Given the description of an element on the screen output the (x, y) to click on. 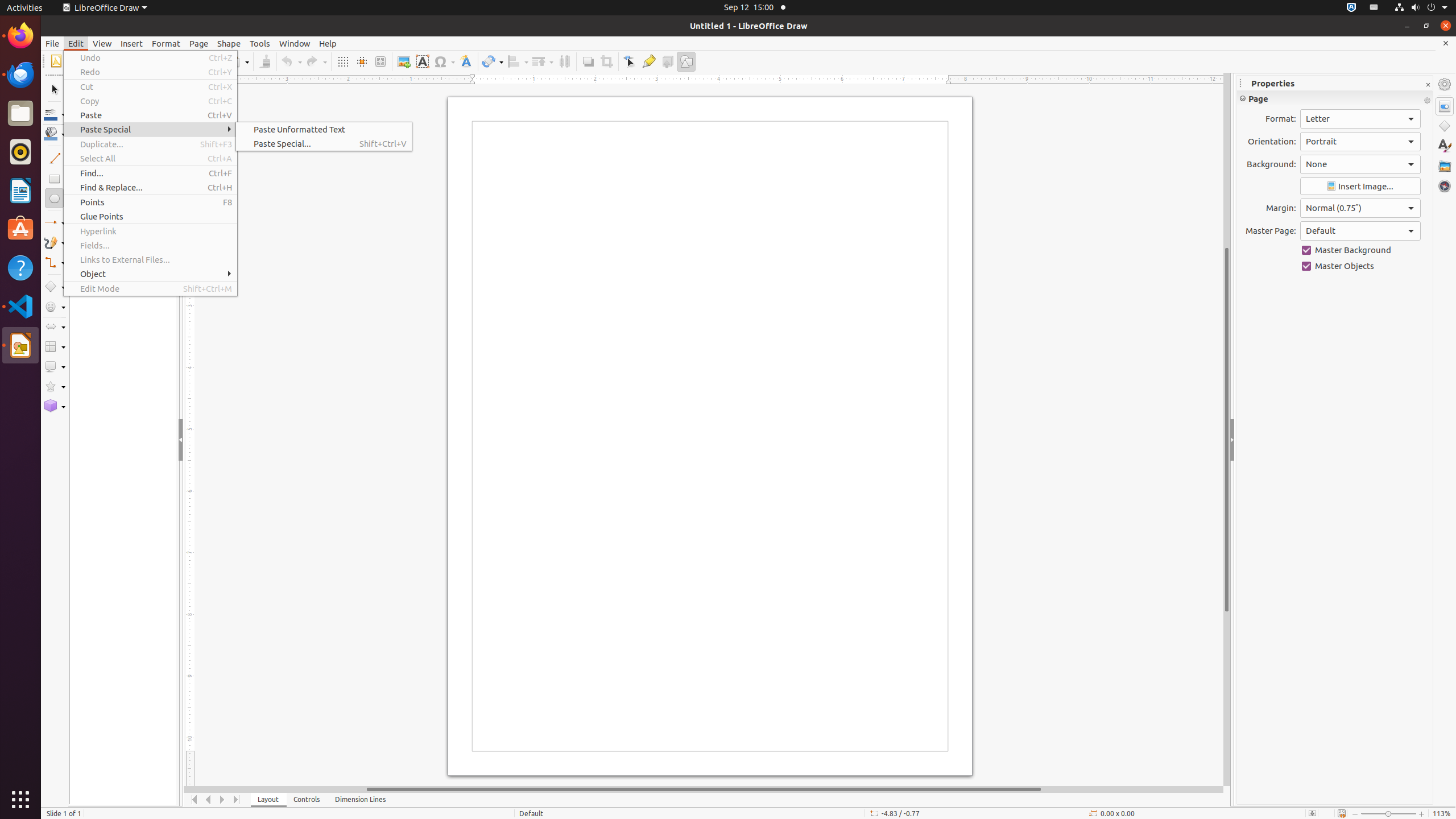
:1.72/StatusNotifierItem Element type: menu (1350, 7)
Styles Element type: radio-button (1444, 146)
Fontwork Style Element type: toggle-button (465, 61)
LibreOffice Draw Element type: push-button (20, 344)
Crop Element type: push-button (606, 61)
